Given the description of an element on the screen output the (x, y) to click on. 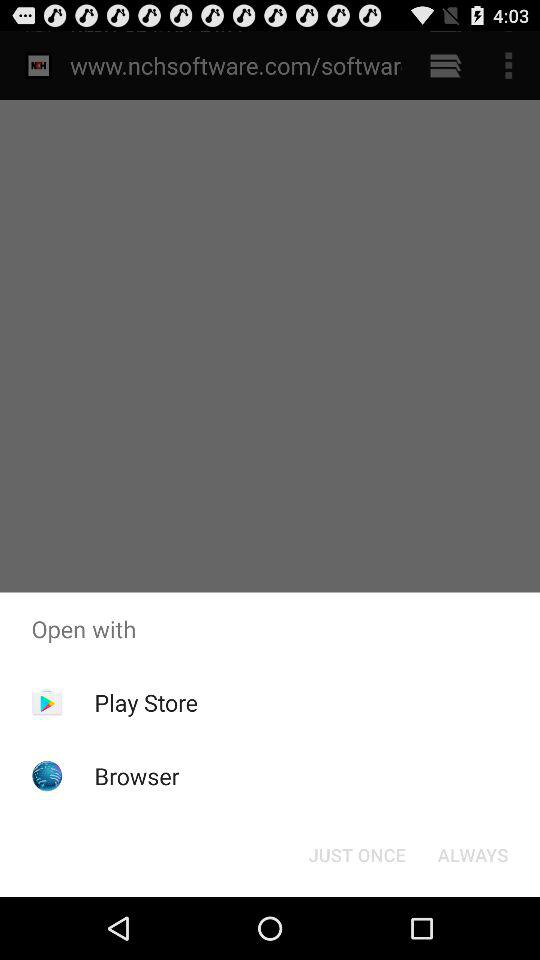
click item above browser icon (146, 702)
